Given the description of an element on the screen output the (x, y) to click on. 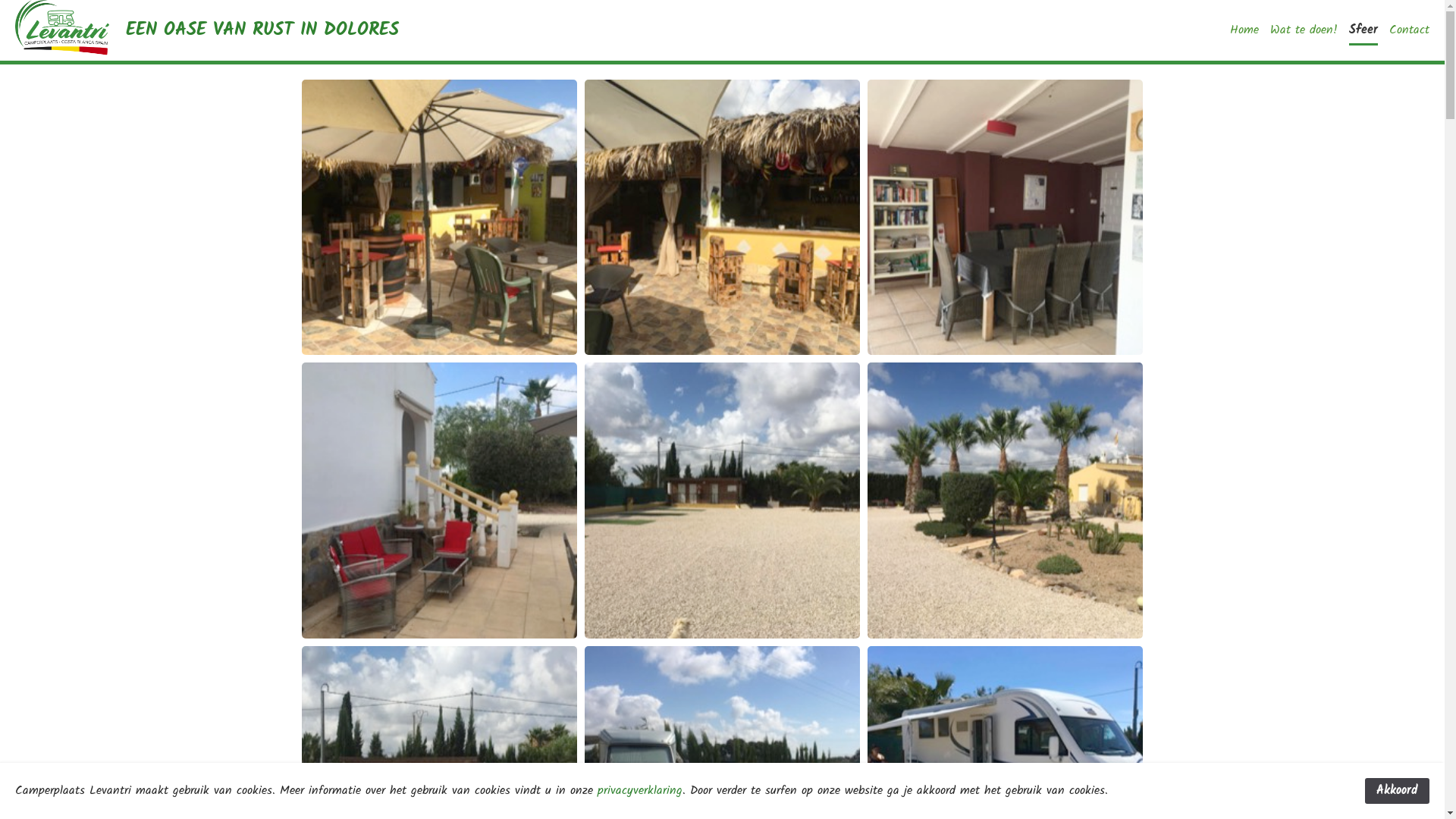
Akkoord Element type: text (1397, 790)
Home Element type: text (1244, 29)
EEN OASE VAN RUST IN DOLORES Element type: text (261, 29)
Sfeer Element type: text (1363, 32)
Wat te doen! Element type: text (1303, 29)
Contact Element type: text (1409, 29)
privacyverklaring Element type: text (639, 790)
